Given the description of an element on the screen output the (x, y) to click on. 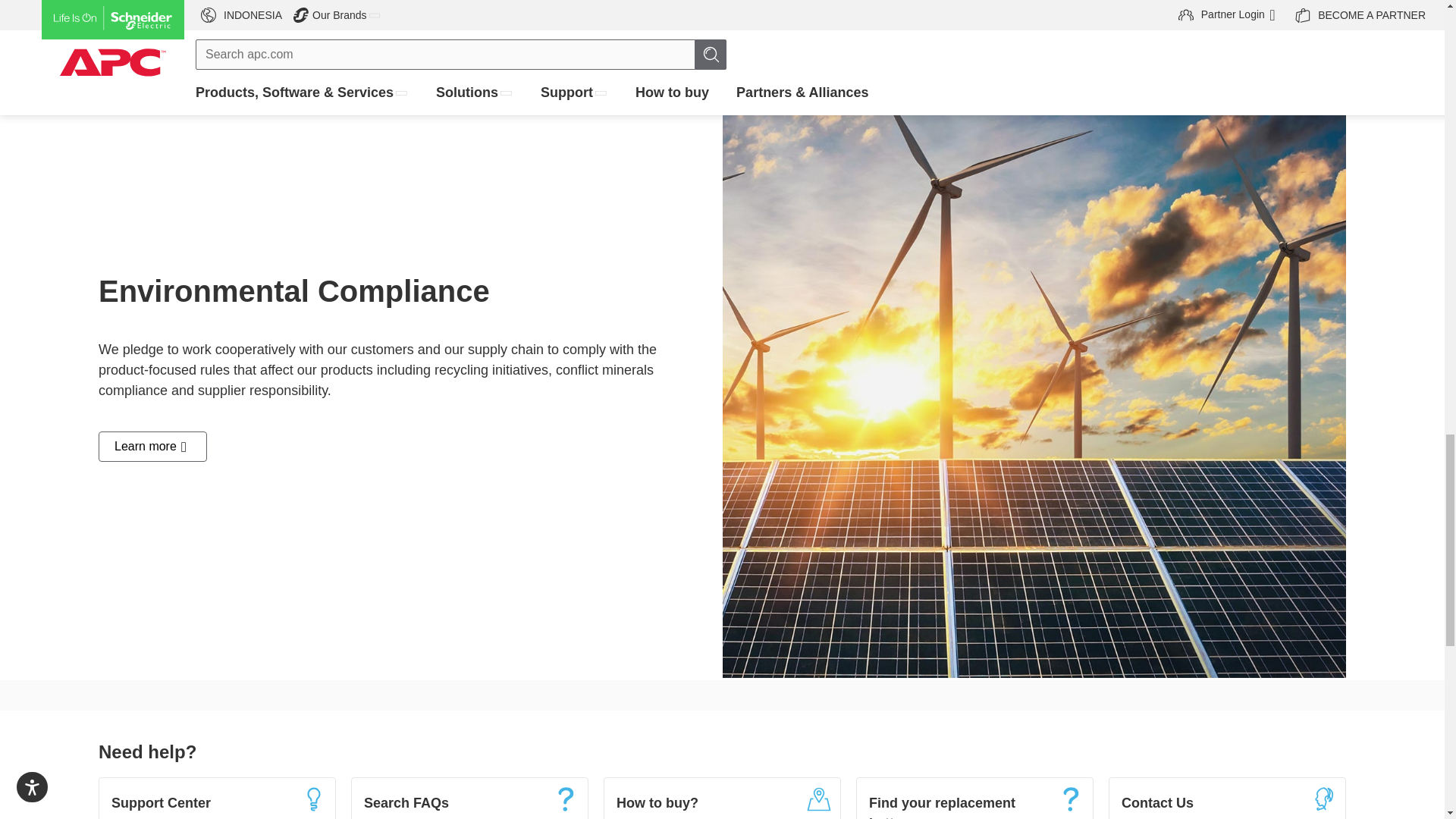
Learn more (152, 445)
